Given the description of an element on the screen output the (x, y) to click on. 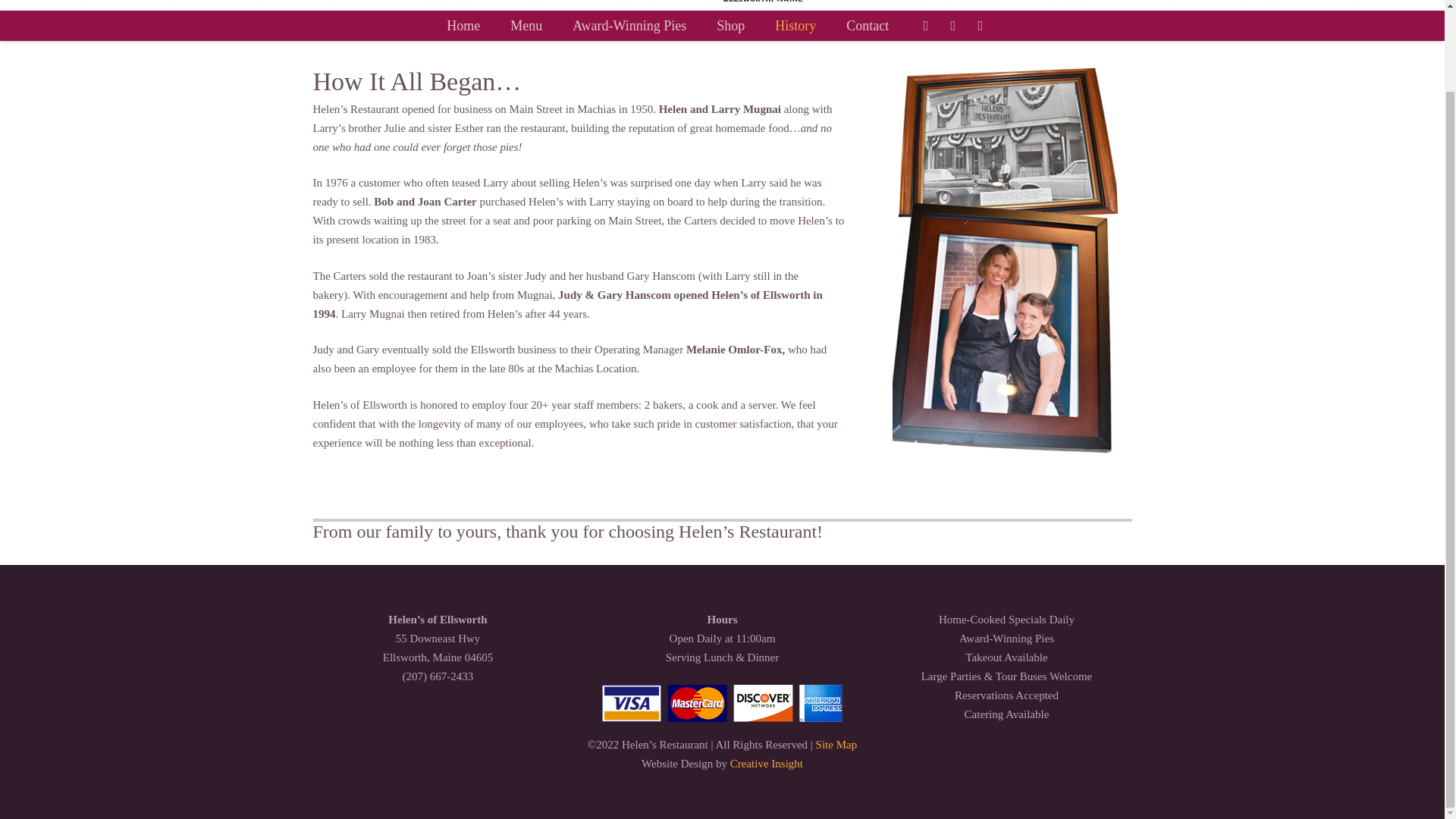
Facebook (925, 25)
Award-Winning Pies (629, 25)
Home (462, 25)
Site Map (836, 744)
Tripadvisor (952, 25)
Menu (526, 25)
Tel: (980, 25)
Creative Insight (766, 763)
History (795, 25)
Shop (730, 25)
